Given the description of an element on the screen output the (x, y) to click on. 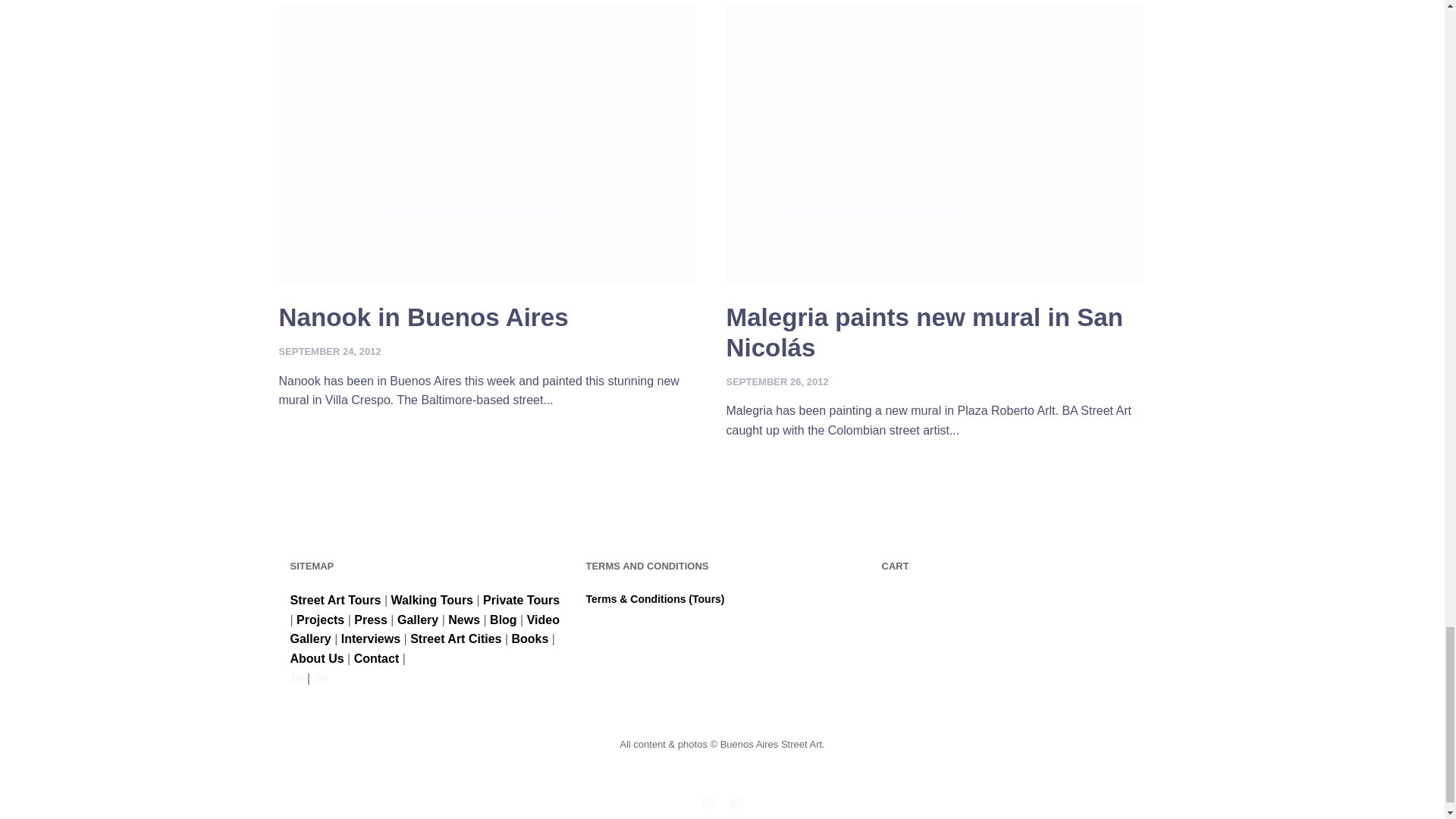
Street Art Tours (334, 599)
Walking Tours (432, 599)
Private Tours (521, 599)
